Given the description of an element on the screen output the (x, y) to click on. 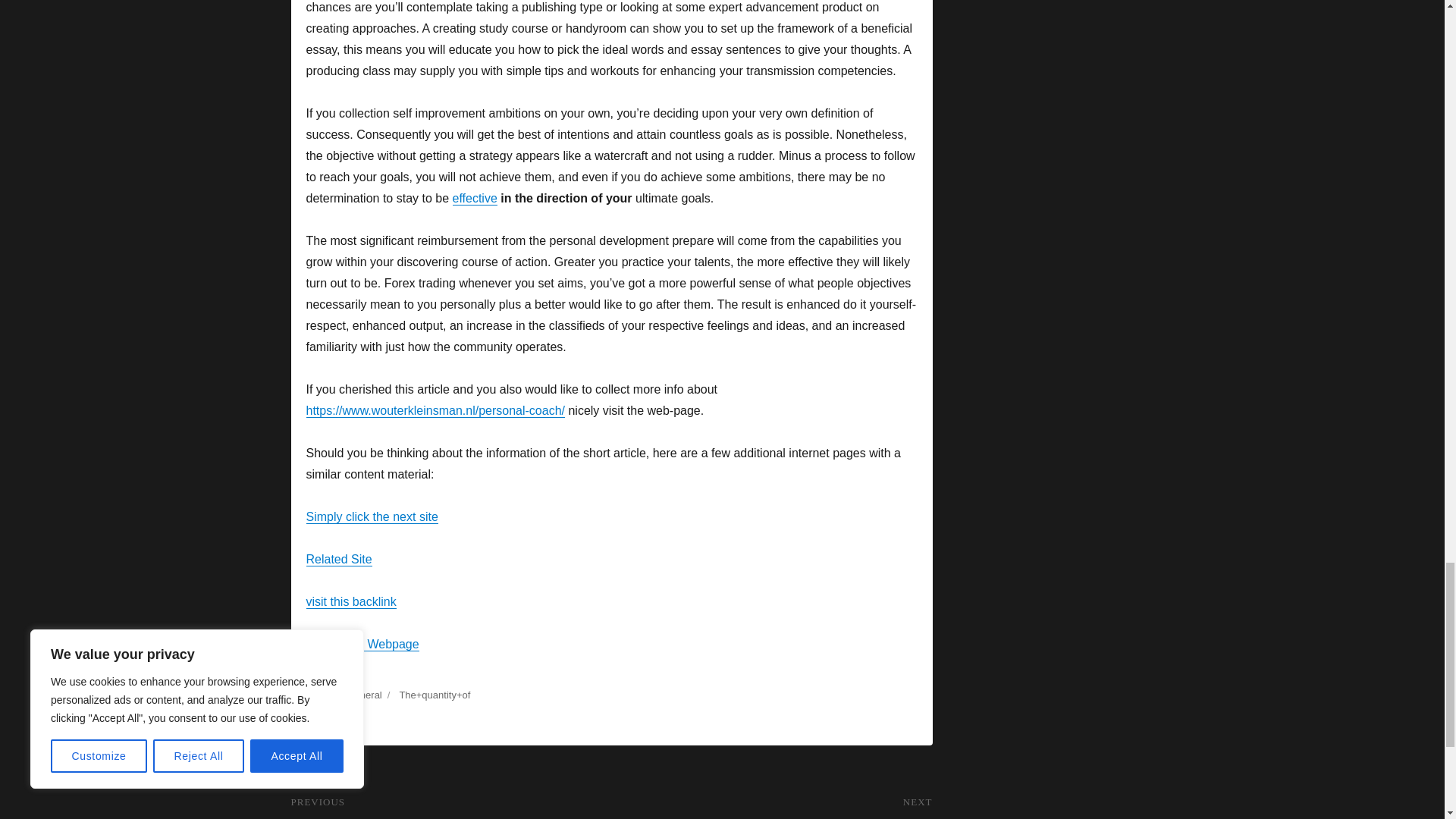
General (364, 695)
visit this backlink (350, 601)
Suggested Webpage (362, 644)
effective (473, 197)
Related Site (338, 558)
Simply click the next site (371, 516)
